Given the description of an element on the screen output the (x, y) to click on. 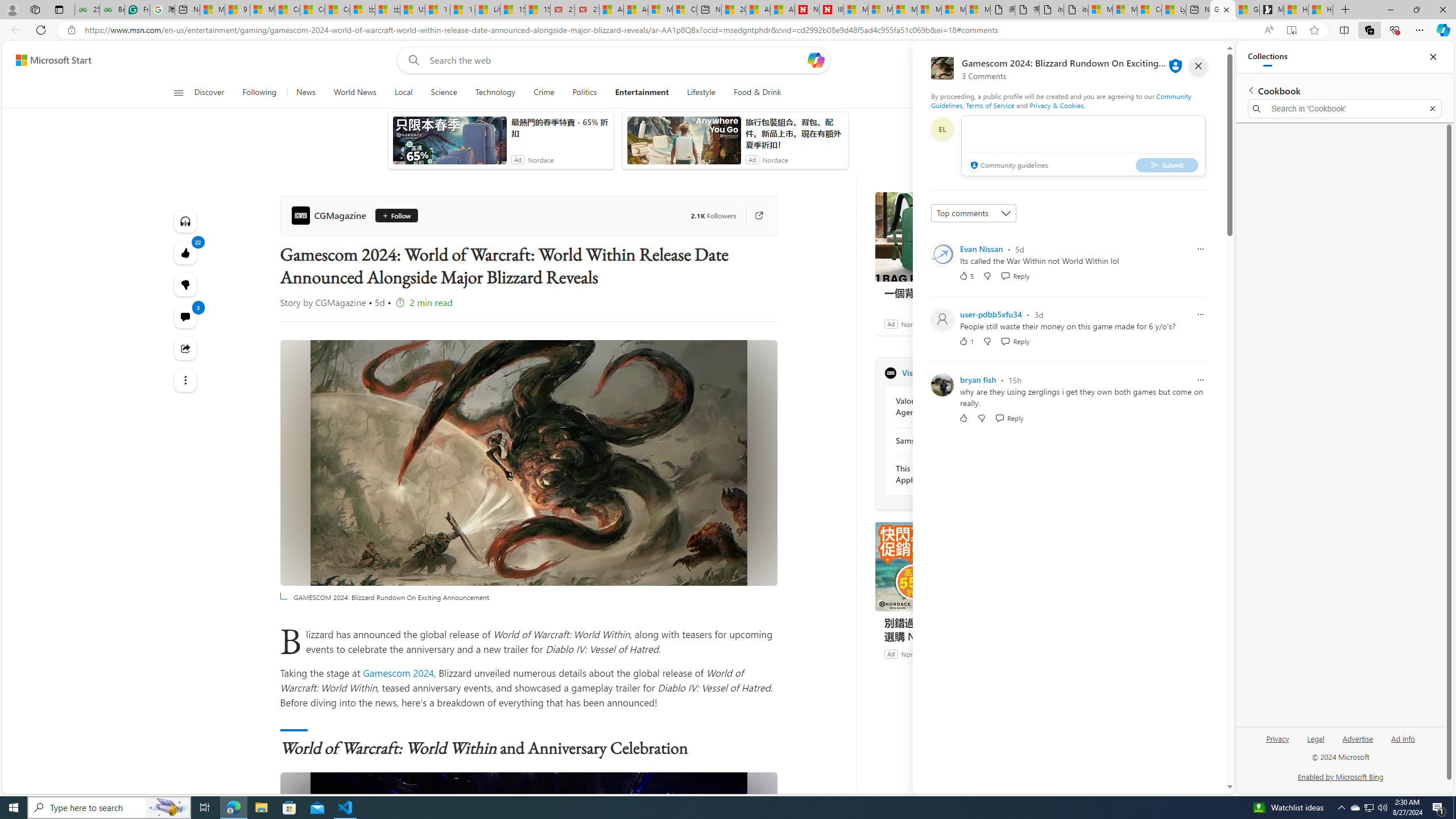
Food & Drink (757, 92)
Evan Nissan (981, 248)
Crime (543, 92)
Politics (584, 92)
